Given the description of an element on the screen output the (x, y) to click on. 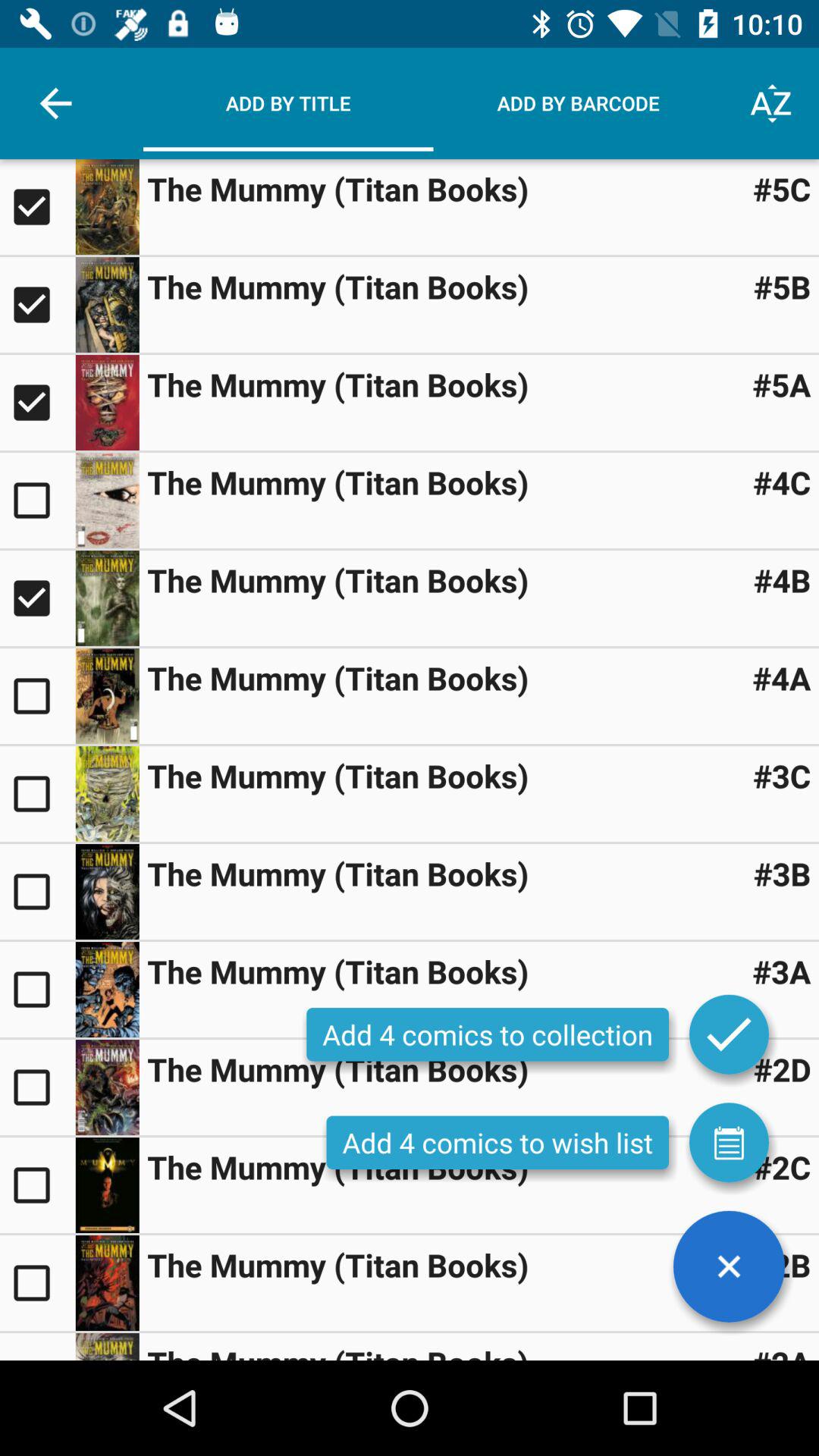
the artwork of the book (107, 500)
